Given the description of an element on the screen output the (x, y) to click on. 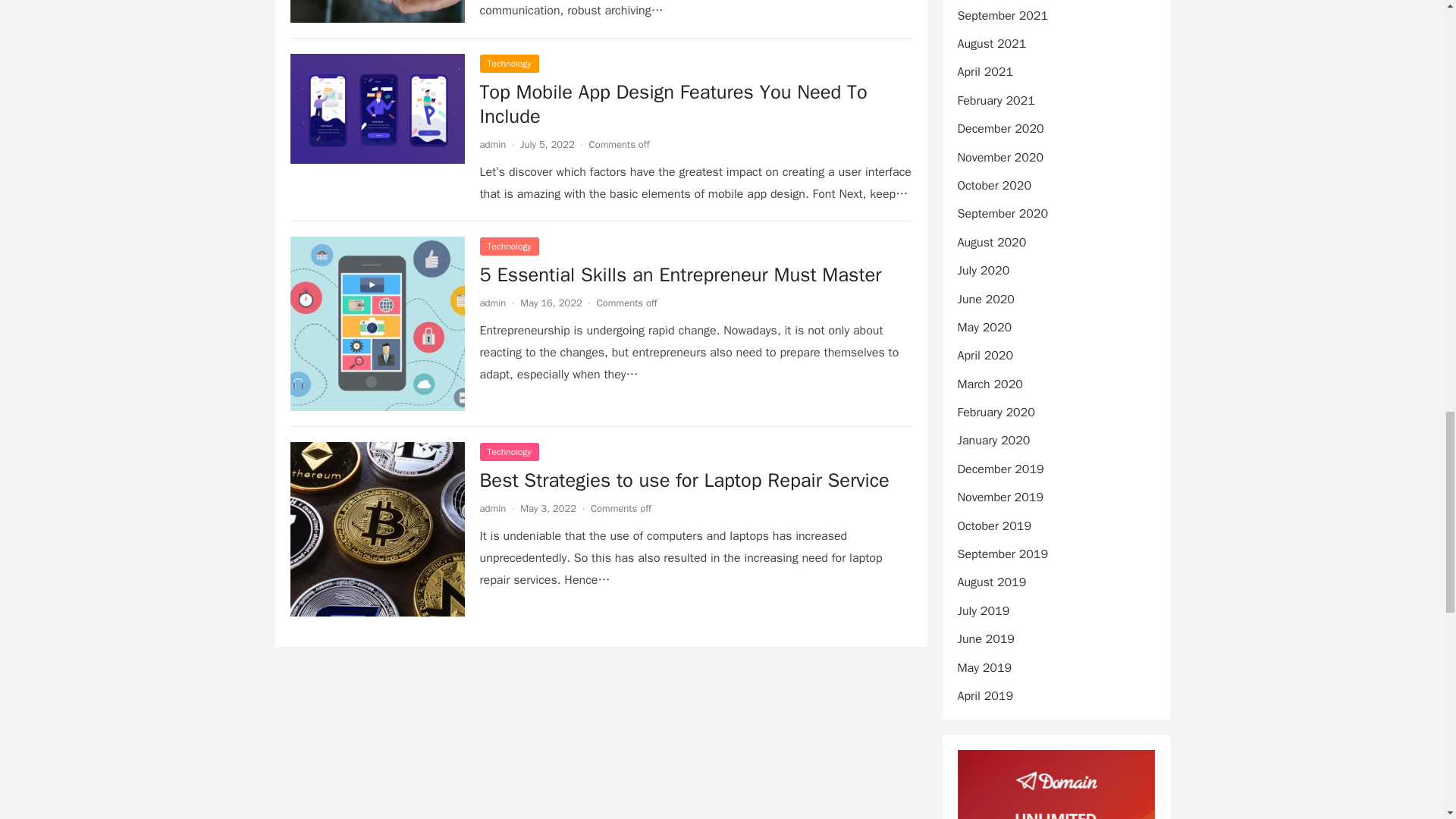
Posts by admin (492, 302)
Technology (508, 63)
Top Mobile App Design Features You Need To Include (672, 103)
admin (492, 144)
Technology (508, 246)
Posts by admin (492, 144)
Posts by admin (492, 508)
5 Essential Skills an Entrepreneur Must Master (679, 274)
